Given the description of an element on the screen output the (x, y) to click on. 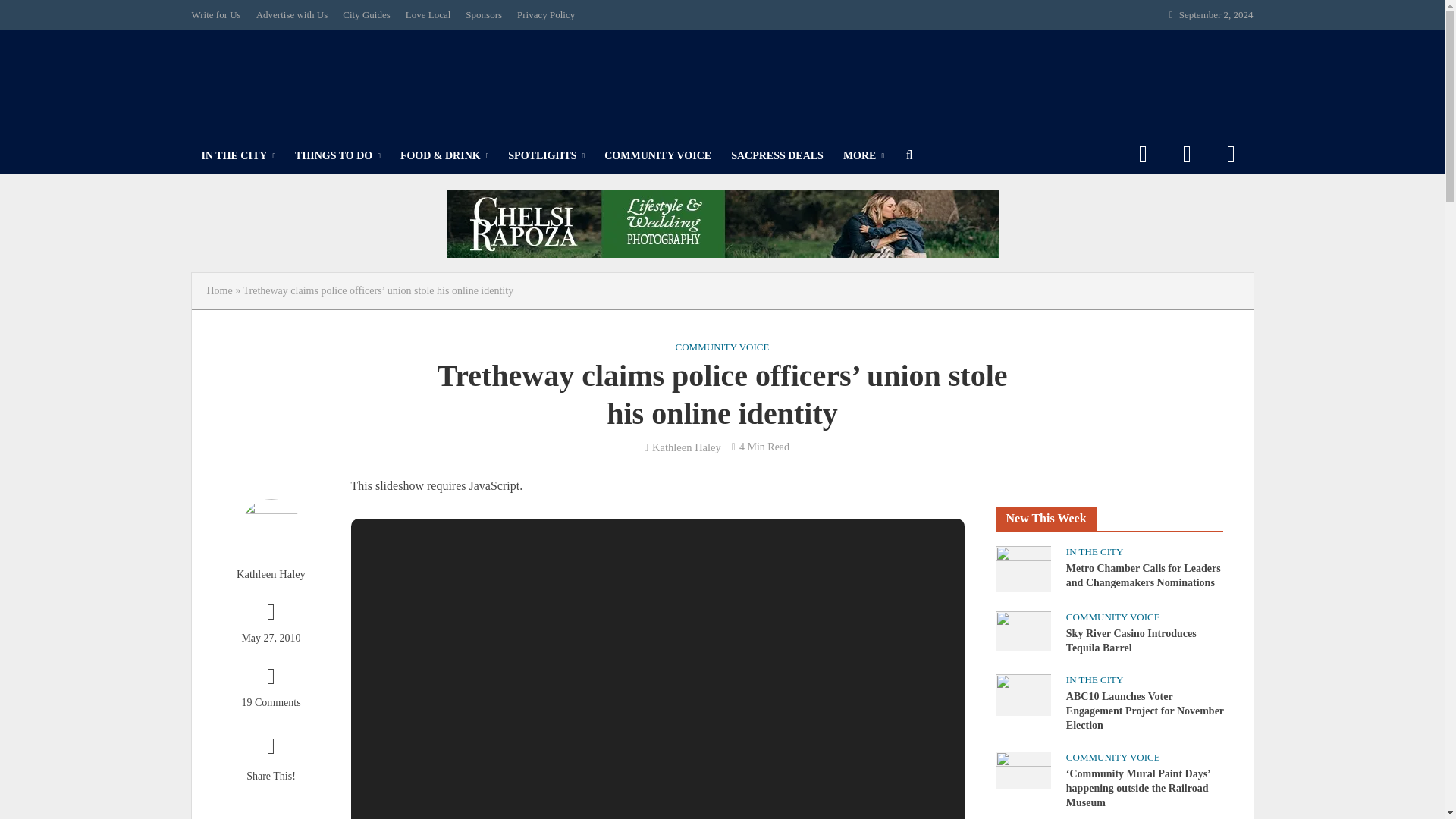
SPOTLIGHTS (545, 156)
Metro Chamber Calls for Leaders and Changemakers Nominations (1021, 567)
Sky River Casino Introduces Tequila Barrel (1021, 629)
IN THE CITY (237, 156)
Sponsors (483, 15)
Privacy Policy (545, 15)
SACPRESS DEALS (776, 156)
City Guides (365, 15)
COMMUNITY VOICE (657, 156)
